Given the description of an element on the screen output the (x, y) to click on. 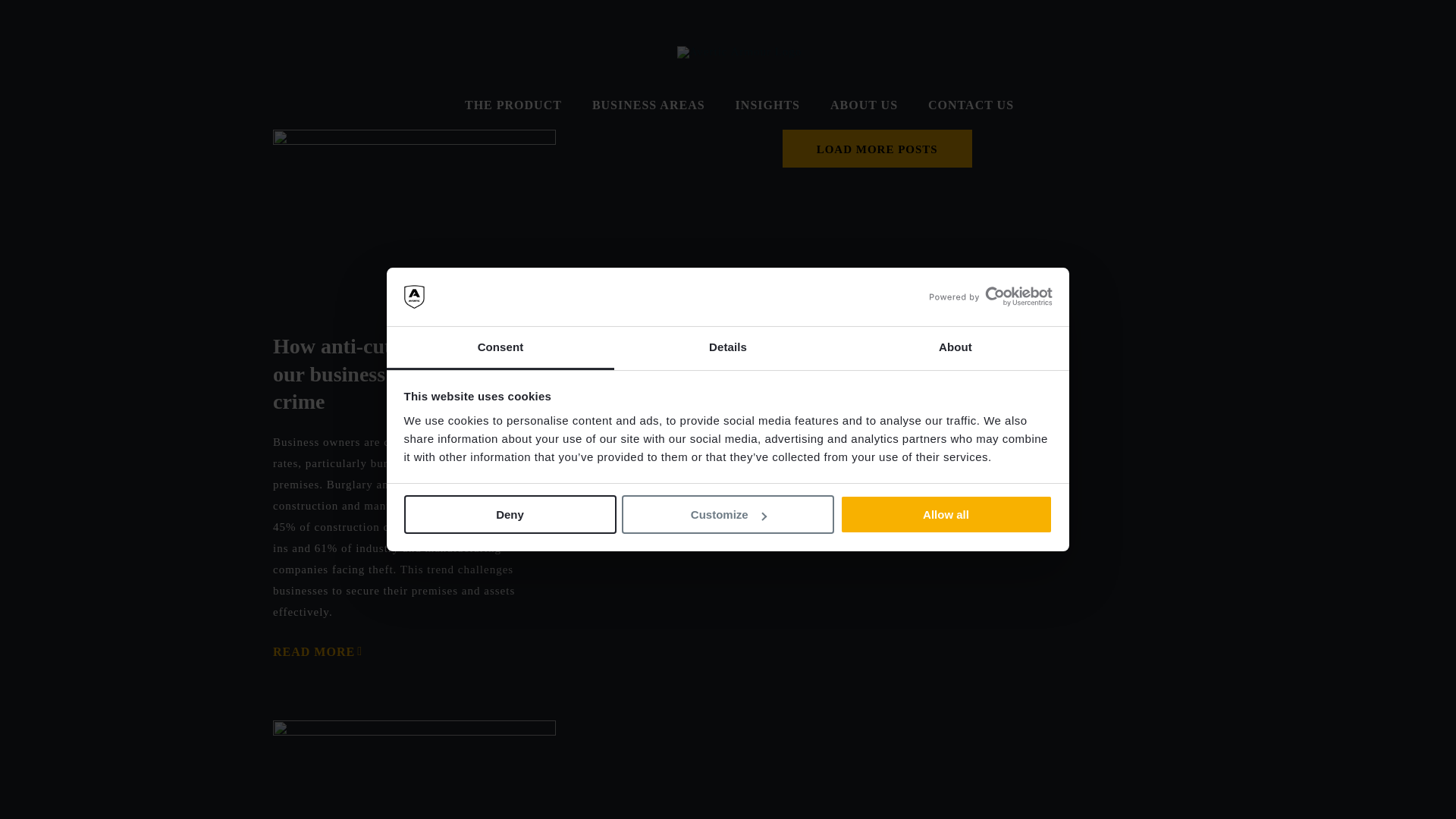
Details (727, 348)
Customize (727, 514)
Deny (509, 514)
Consent (500, 348)
About (954, 348)
Allow all (946, 514)
